Given the description of an element on the screen output the (x, y) to click on. 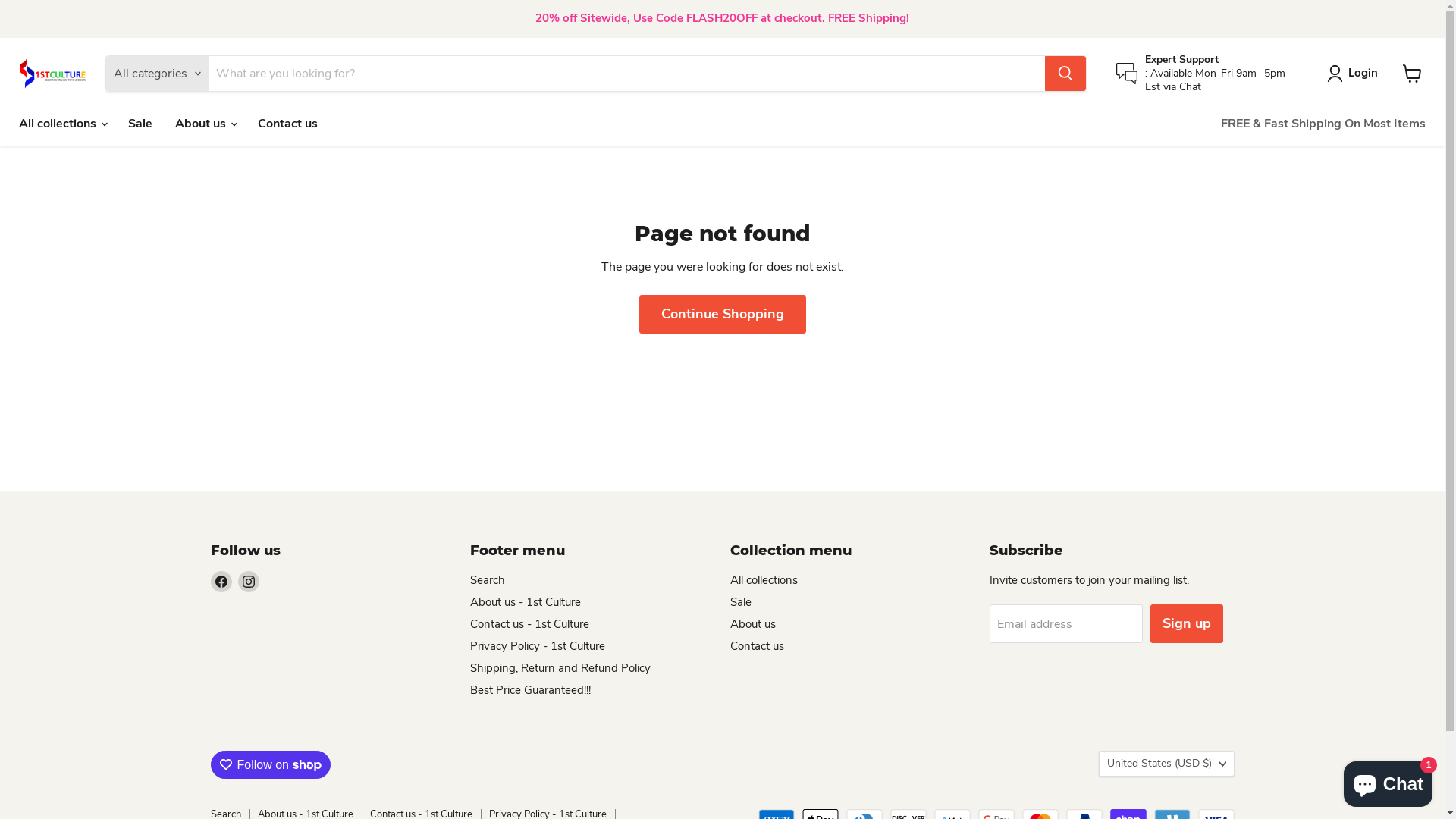
View cart Element type: text (1412, 73)
Sale Element type: text (739, 601)
United States (USD $) Element type: text (1165, 763)
Find us on Instagram Element type: text (248, 581)
Contact us - 1st Culture Element type: text (529, 623)
Search Element type: text (487, 579)
About us - 1st Culture Element type: text (525, 601)
FREE & Fast Shipping On Most Items Element type: text (1323, 123)
Continue Shopping Element type: text (721, 313)
Privacy Policy - 1st Culture Element type: text (537, 645)
Sign up Element type: text (1186, 623)
About us Element type: text (752, 623)
Best Price Guaranteed!!! Element type: text (530, 689)
All collections Element type: text (763, 579)
Find us on Facebook Element type: text (221, 581)
Sale Element type: text (139, 123)
Contact us Element type: text (756, 645)
Shipping, Return and Refund Policy Element type: text (560, 667)
Contact us Element type: text (287, 123)
Login Element type: text (1355, 73)
Shopify online store chat Element type: hover (1388, 780)
